Given the description of an element on the screen output the (x, y) to click on. 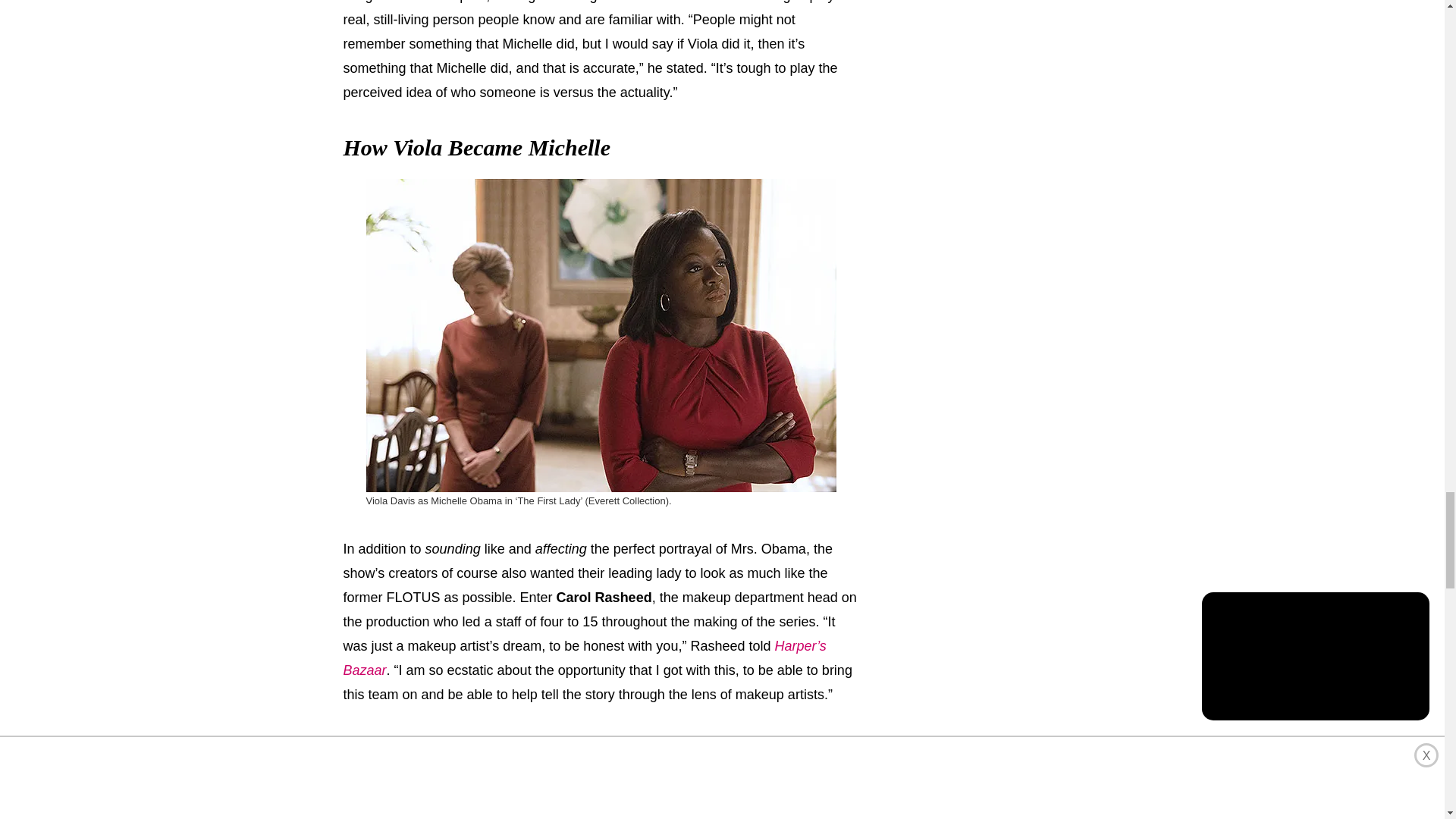
3rd party ad content (600, 781)
